Given the description of an element on the screen output the (x, y) to click on. 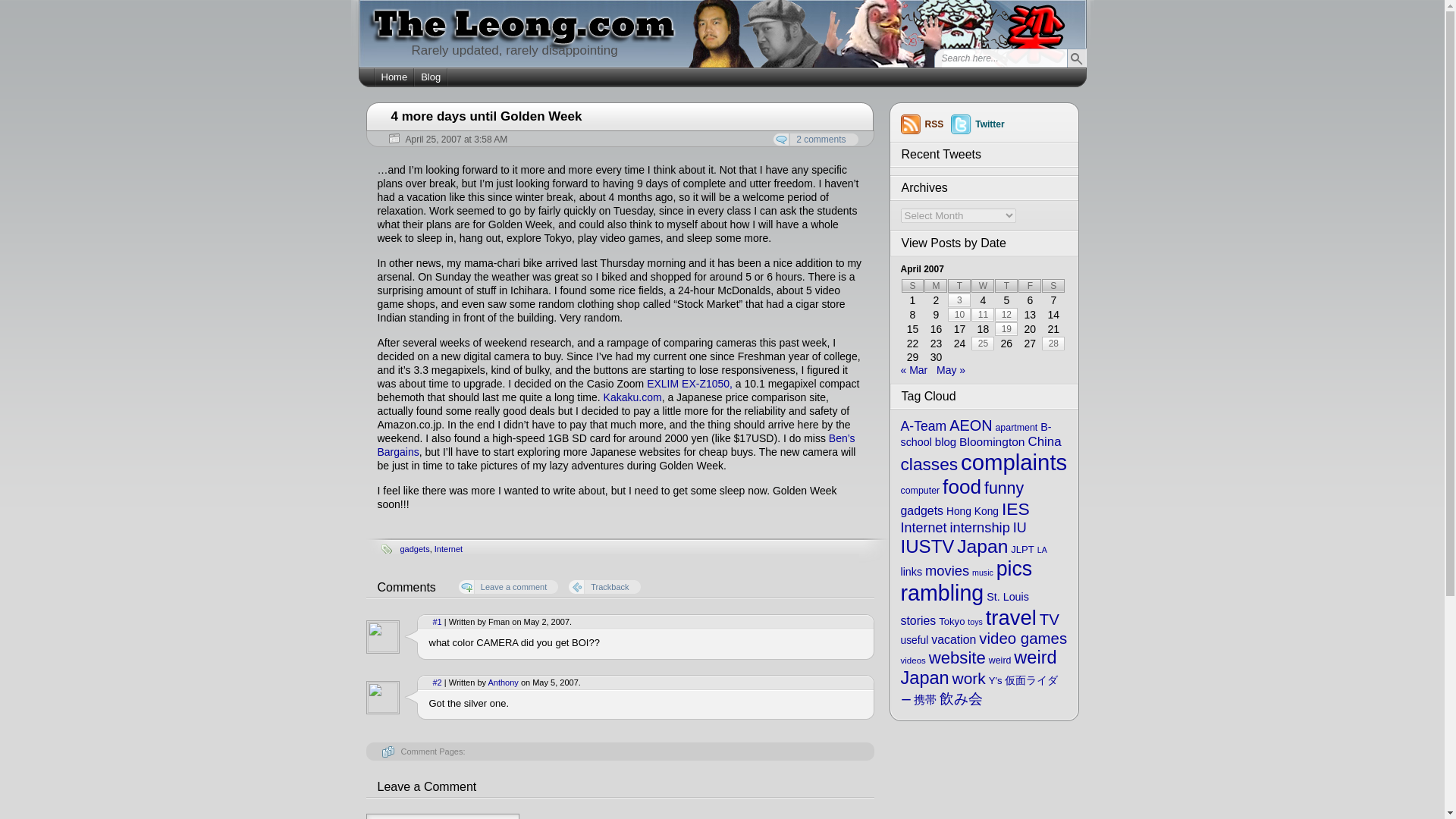
Anthony (502, 682)
RSS (926, 124)
Tuesday (959, 285)
11 (982, 314)
10 (959, 314)
Bloomington (992, 440)
Wednesday (982, 285)
Kakaku.com (633, 397)
Sunday (912, 285)
Saturday (1053, 285)
Thursday (1005, 285)
Search here... (999, 57)
Find (1074, 57)
28 (1053, 343)
apartment (1015, 427)
